Given the description of an element on the screen output the (x, y) to click on. 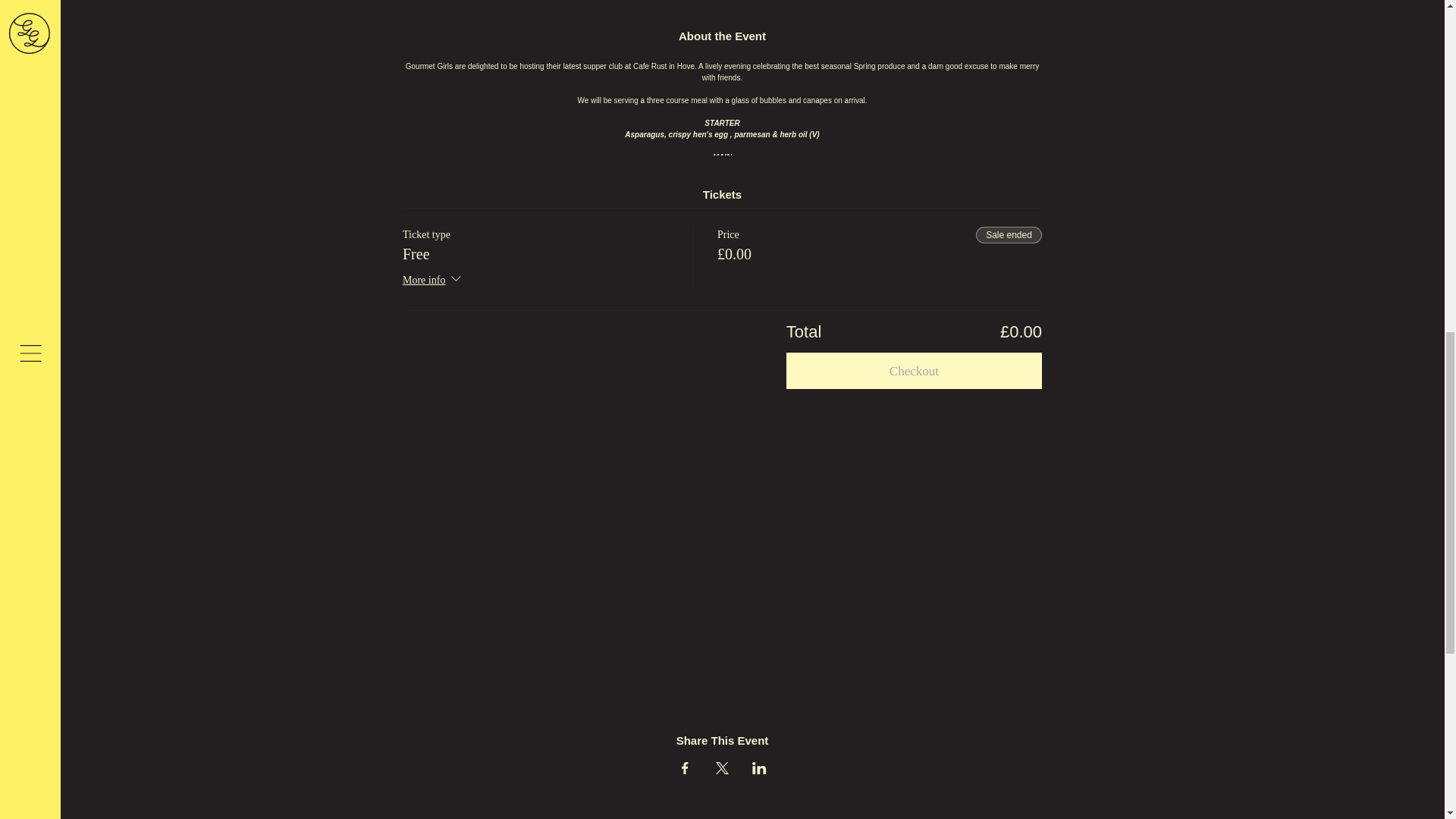
Checkout (914, 370)
More info (433, 281)
